Given the description of an element on the screen output the (x, y) to click on. 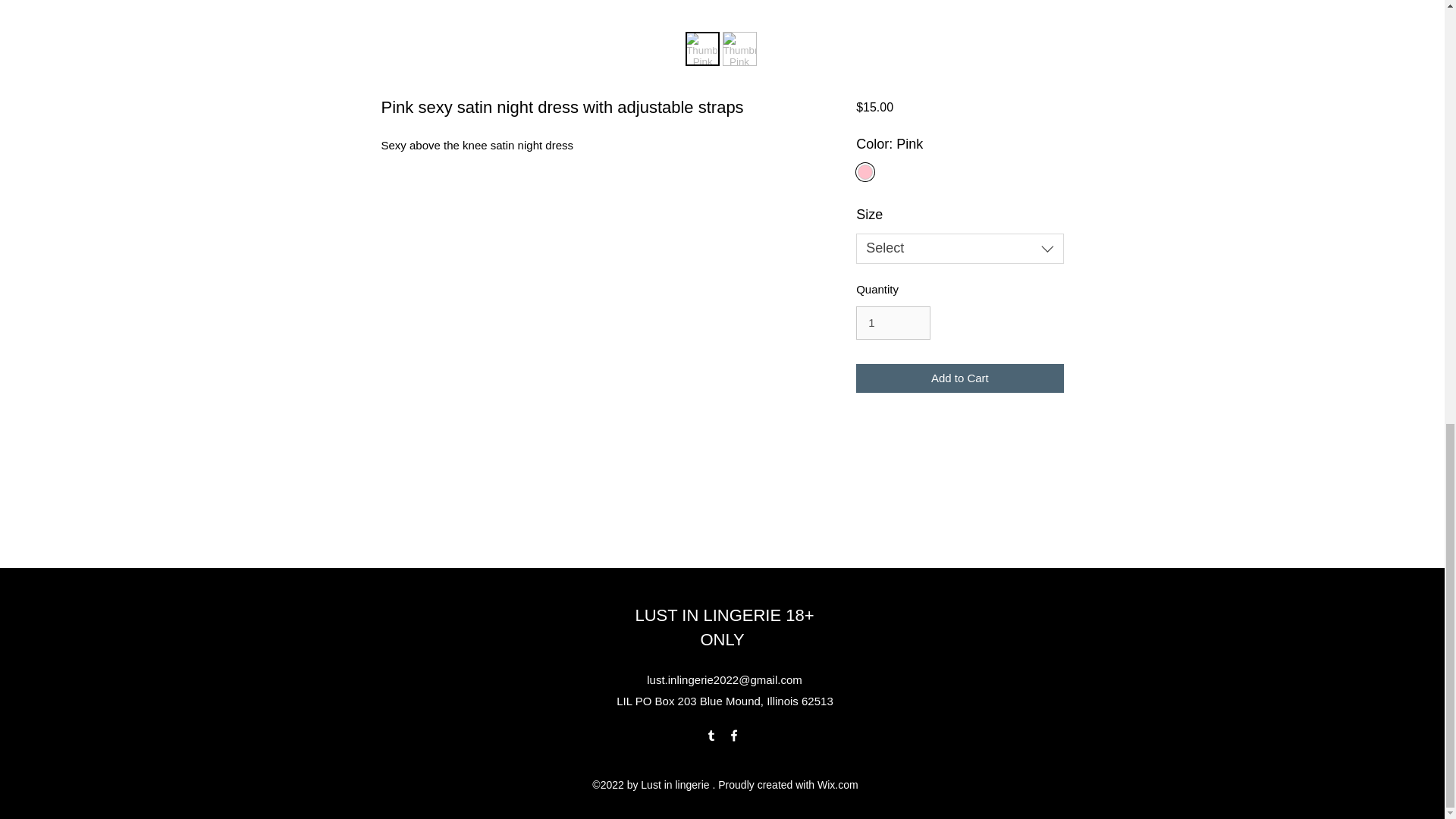
1 (893, 322)
Add to Cart (959, 378)
Select (959, 248)
